Given the description of an element on the screen output the (x, y) to click on. 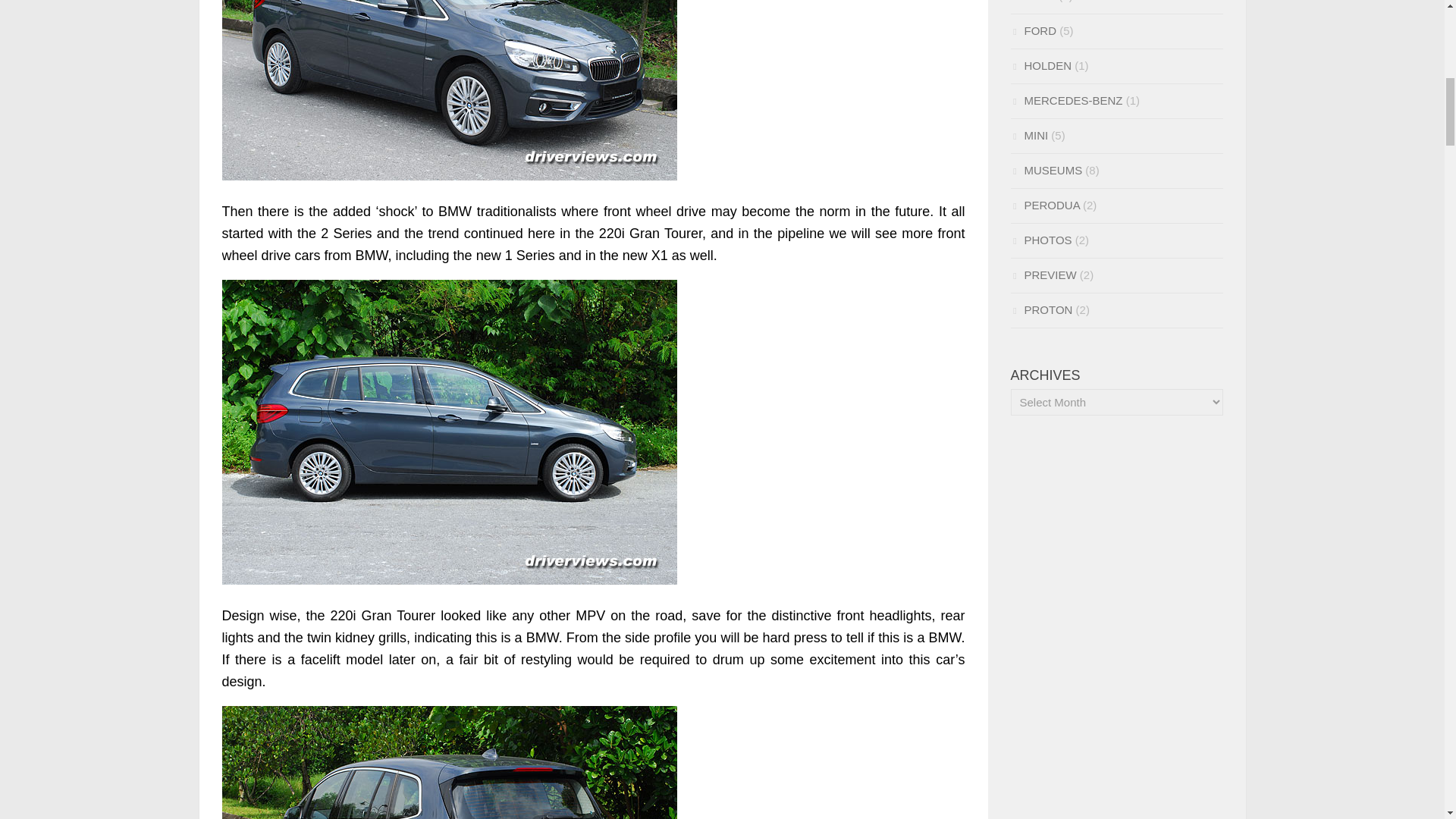
PERODUA (1044, 205)
FORD (1033, 30)
PREVIEW (1042, 274)
View all posts filed under FORD (1033, 30)
View all posts filed under EXPO (1032, 1)
PHOTOS (1040, 239)
MUSEUMS (1045, 169)
PROTON (1040, 309)
EXPO (1032, 1)
HOLDEN (1040, 65)
MINI (1029, 134)
View all posts filed under HOLDEN (1040, 65)
MERCEDES-BENZ (1066, 100)
View all posts filed under MERCEDES-BENZ (1066, 100)
